Given the description of an element on the screen output the (x, y) to click on. 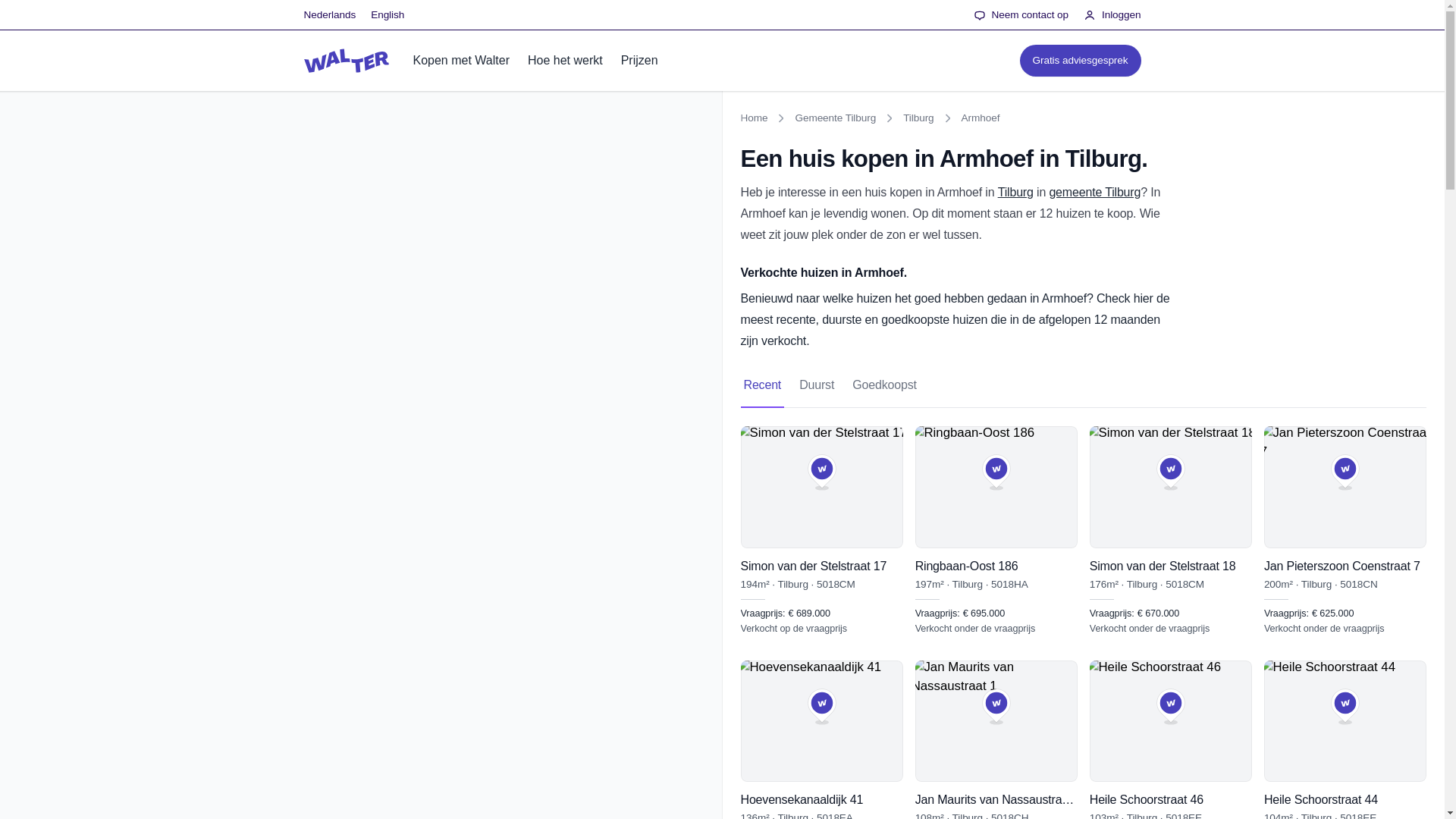
Duurst (816, 385)
Homepage (345, 60)
Neem contact op (1021, 14)
Tilburg (1015, 192)
Armhoef (980, 117)
Heile Schoorstraat 44, Tilburg (1344, 739)
Neem contact op (1021, 14)
gemeente Tilburg (1094, 192)
Inloggen (1111, 14)
Home (753, 117)
